Given the description of an element on the screen output the (x, y) to click on. 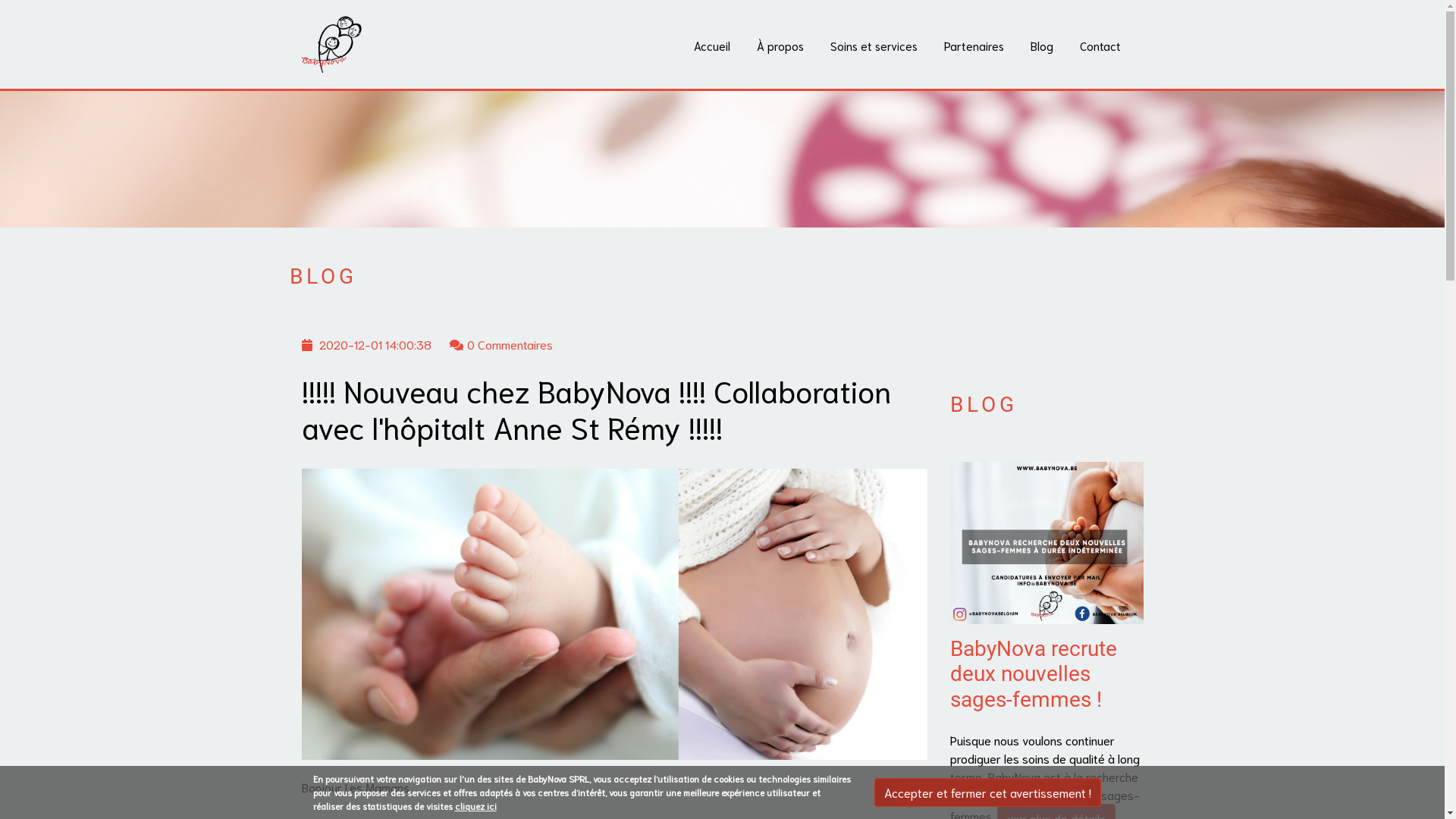
Partenaires Element type: text (973, 45)
cliquez ici Element type: text (475, 805)
Contact Element type: text (1099, 45)
0 Commentaires Element type: text (509, 343)
Blog Element type: text (1040, 45)
Accepter et fermer cet avertissement ! Element type: text (986, 792)
2020-12-01 14:00:38 Element type: text (374, 343)
Soins et services Element type: text (872, 45)
Accueil Element type: text (711, 45)
